Given the description of an element on the screen output the (x, y) to click on. 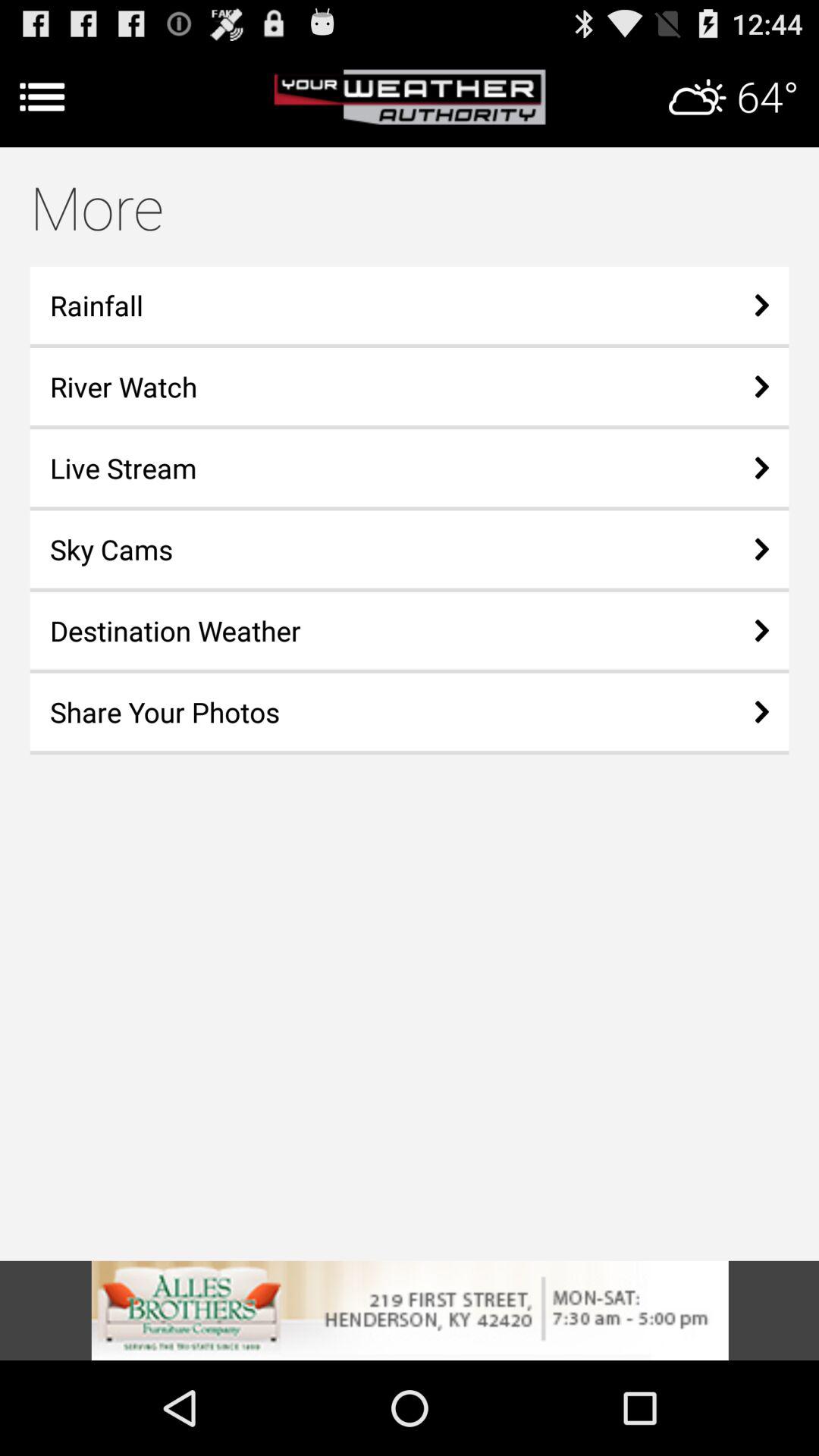
check advertisement (409, 1310)
